Given the description of an element on the screen output the (x, y) to click on. 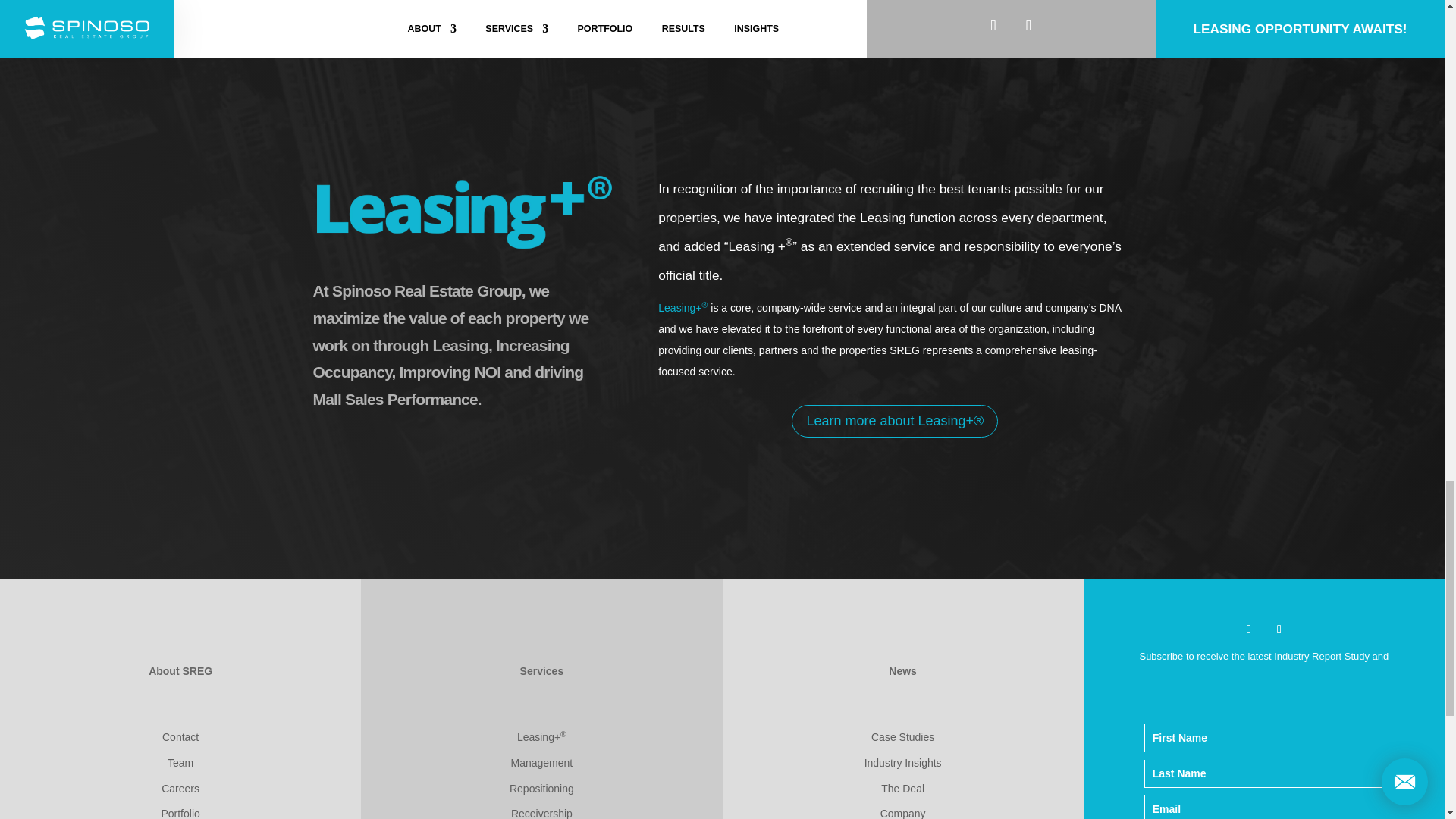
Follow on Instagram (1278, 629)
Follow on LinkedIn (1248, 629)
